Given the description of an element on the screen output the (x, y) to click on. 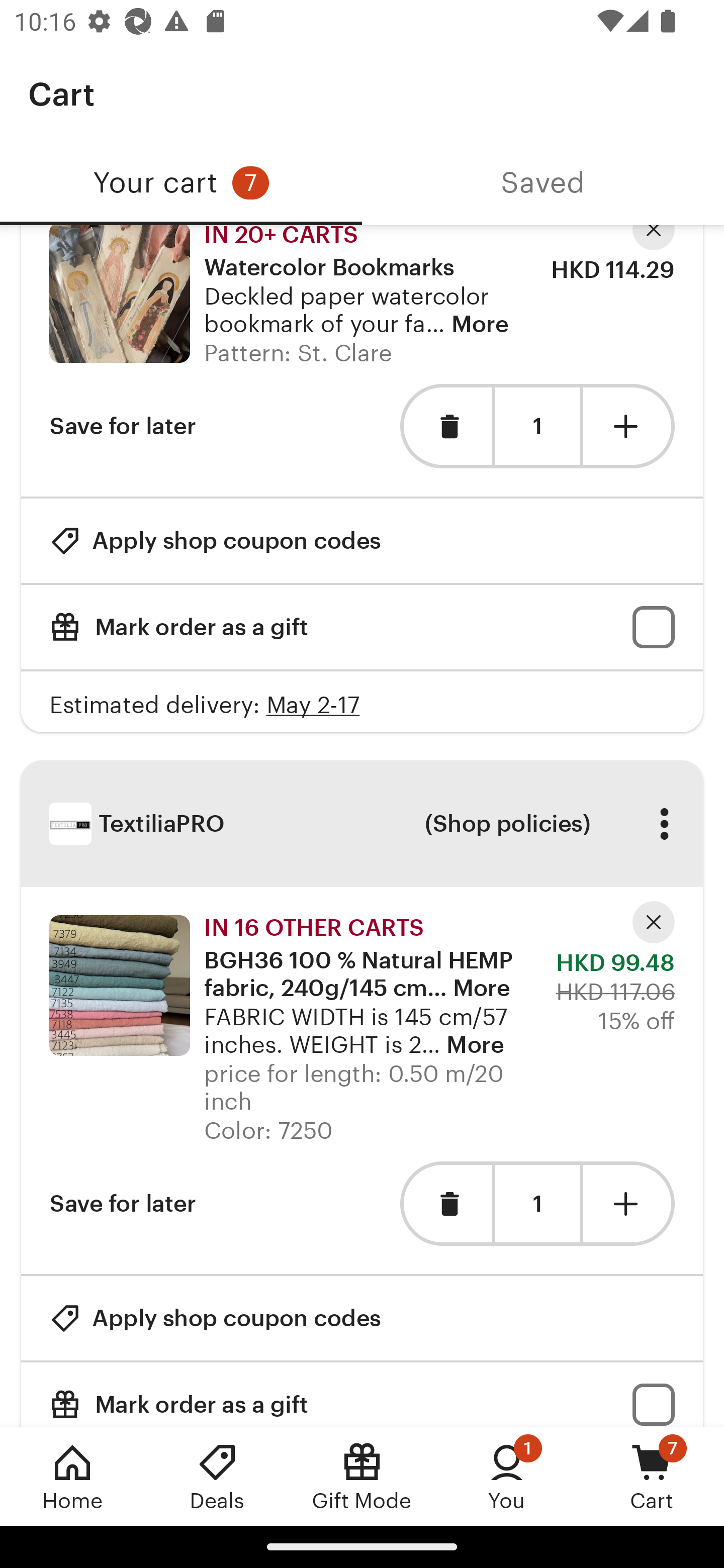
Saved, tab 2 of 2 Saved (543, 183)
Watercolor Bookmarks (119, 293)
Save for later (122, 426)
Remove item from cart (445, 426)
Add one unit to cart (628, 426)
1 (537, 426)
Apply shop coupon codes (215, 540)
Mark order as a gift (361, 626)
TextiliaPRO (Shop policies) More options (361, 823)
(Shop policies) (507, 822)
More options (663, 822)
Save for later (122, 1203)
Remove item from cart (445, 1203)
Add one unit to cart (628, 1203)
1 (537, 1203)
Apply shop coupon codes (215, 1318)
Mark order as a gift (361, 1394)
Home (72, 1475)
Deals (216, 1475)
Gift Mode (361, 1475)
You, 1 new notification You (506, 1475)
